Given the description of an element on the screen output the (x, y) to click on. 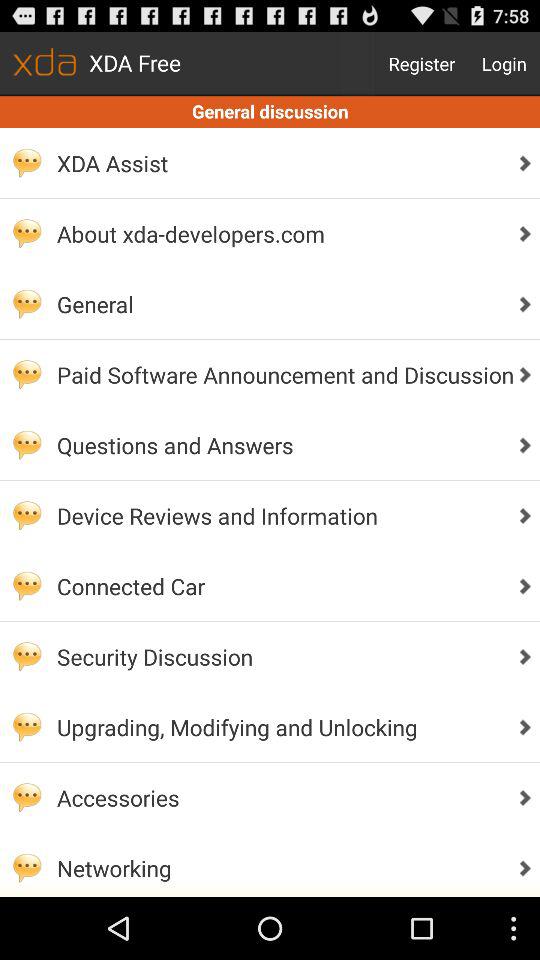
choose connected car app (280, 586)
